Given the description of an element on the screen output the (x, y) to click on. 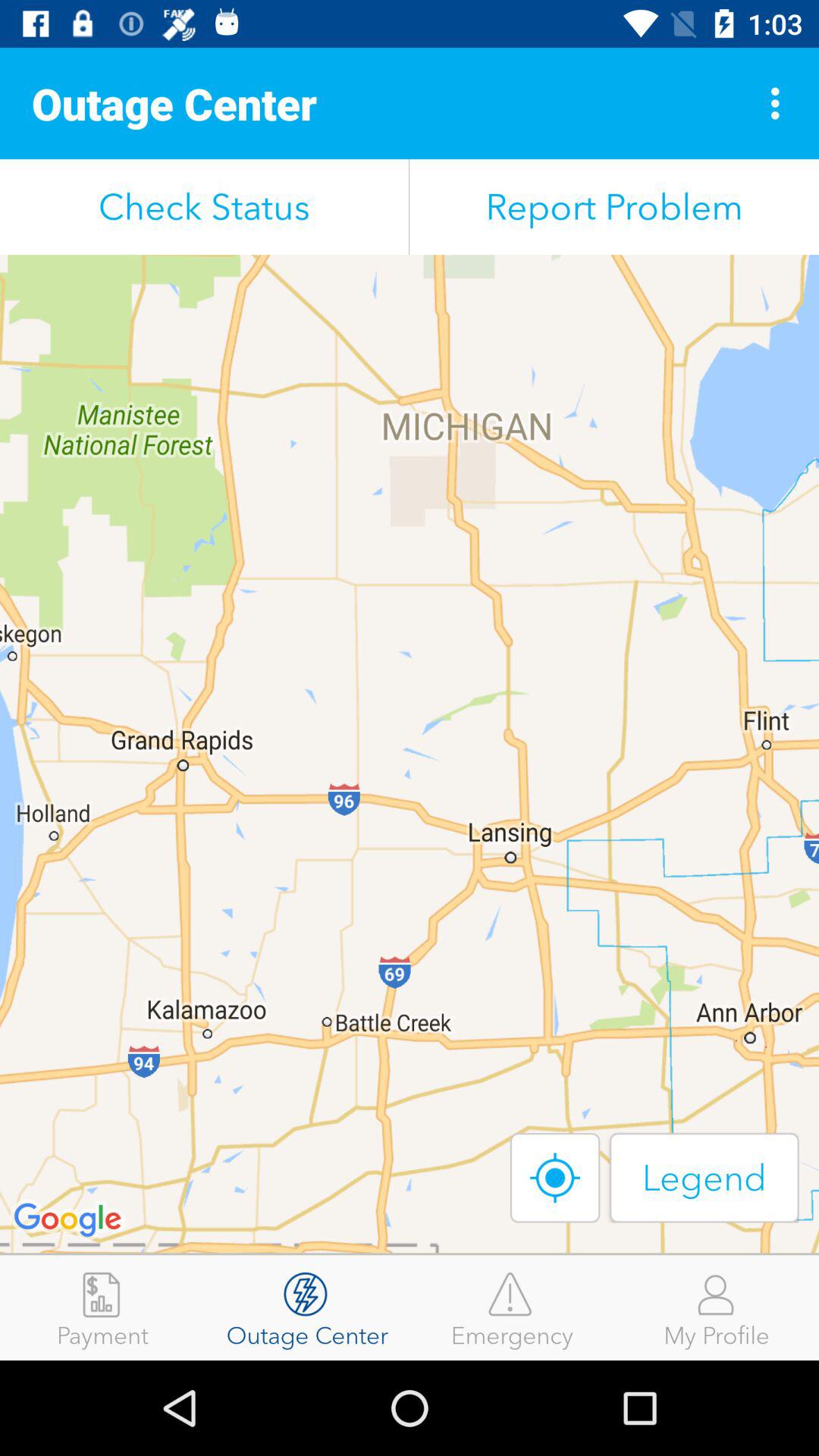
press the icon below the check status item (409, 753)
